Given the description of an element on the screen output the (x, y) to click on. 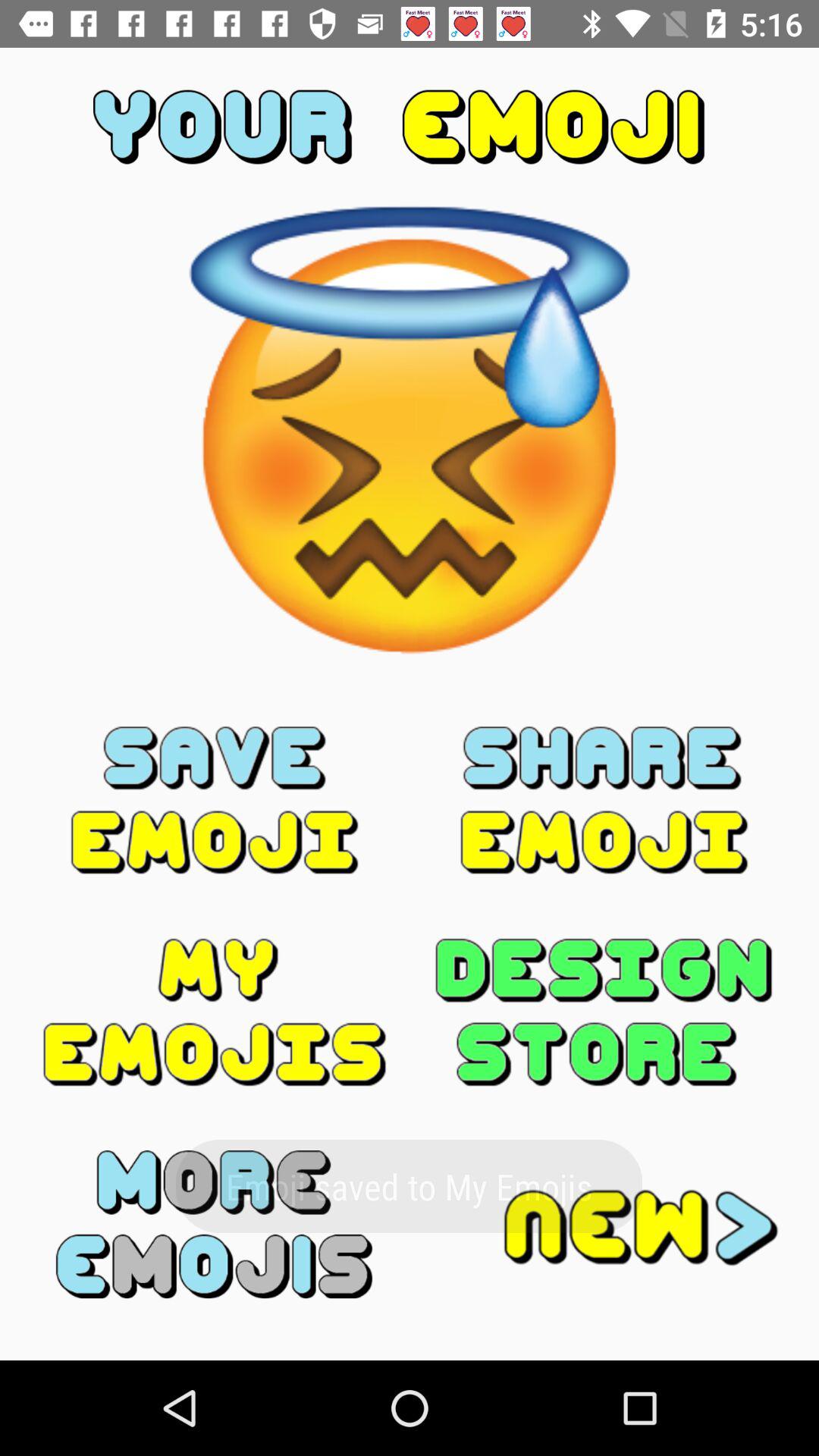
select the emoji option (214, 800)
